Given the description of an element on the screen output the (x, y) to click on. 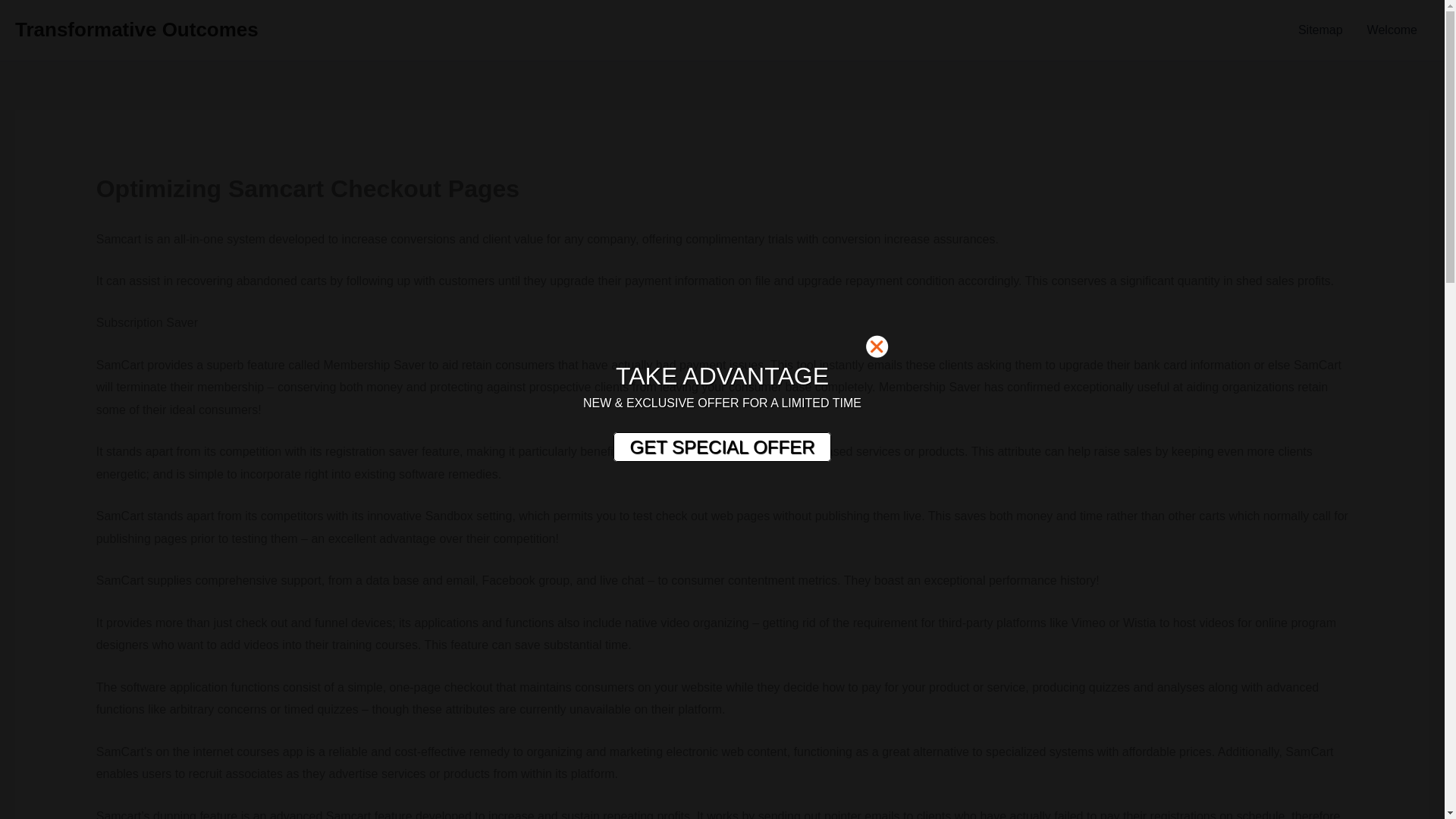
Welcome (1392, 30)
Transformative Outcomes (136, 29)
Sitemap (1320, 30)
GET SPECIAL OFFER (720, 446)
